Given the description of an element on the screen output the (x, y) to click on. 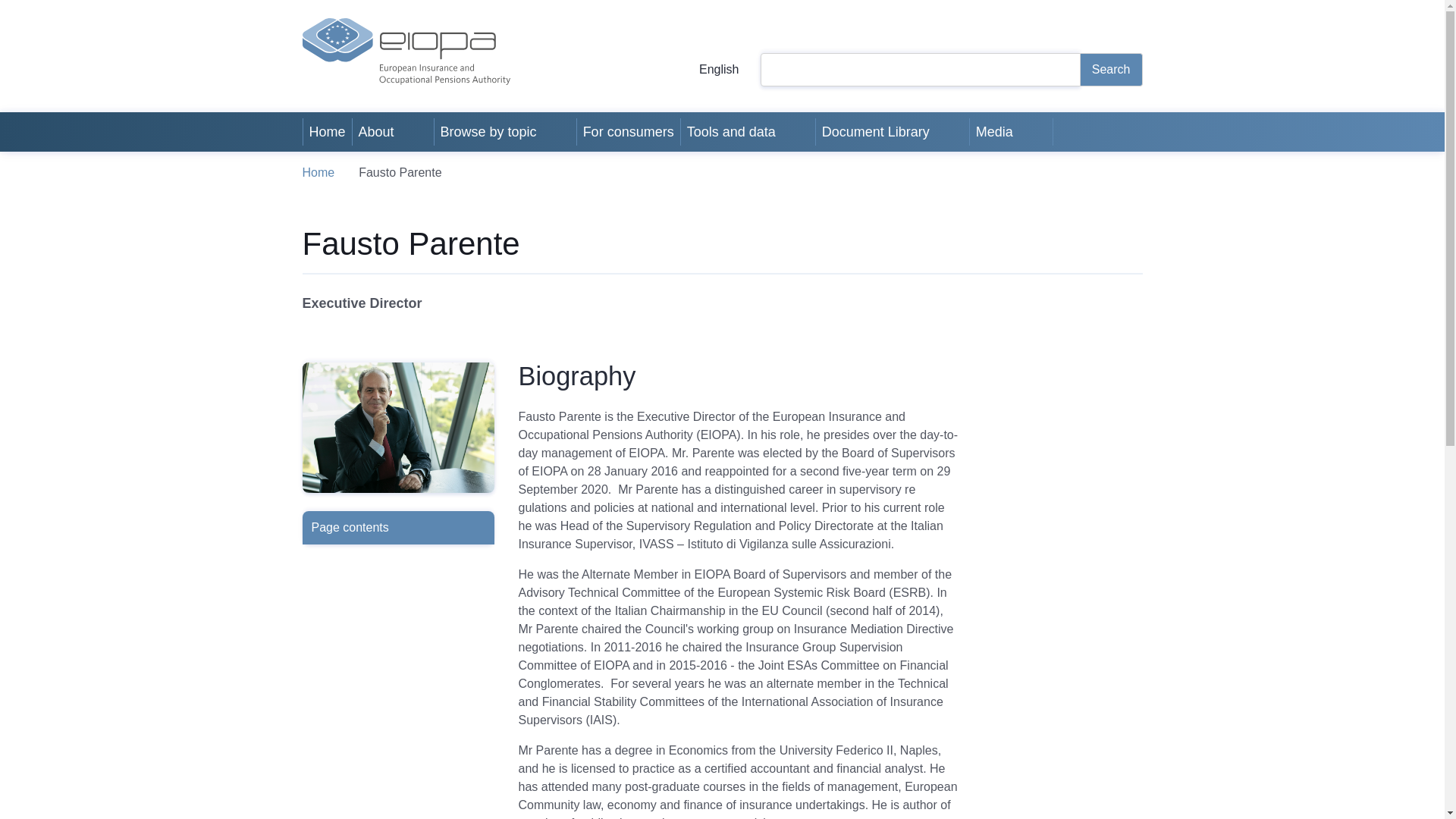
Browse by topic (486, 131)
Search (1111, 69)
For consumers (627, 131)
Home (327, 131)
English (706, 69)
European Insurance and Occupational Pensions Authority (405, 51)
About (374, 131)
Tools and data (729, 131)
